Given the description of an element on the screen output the (x, y) to click on. 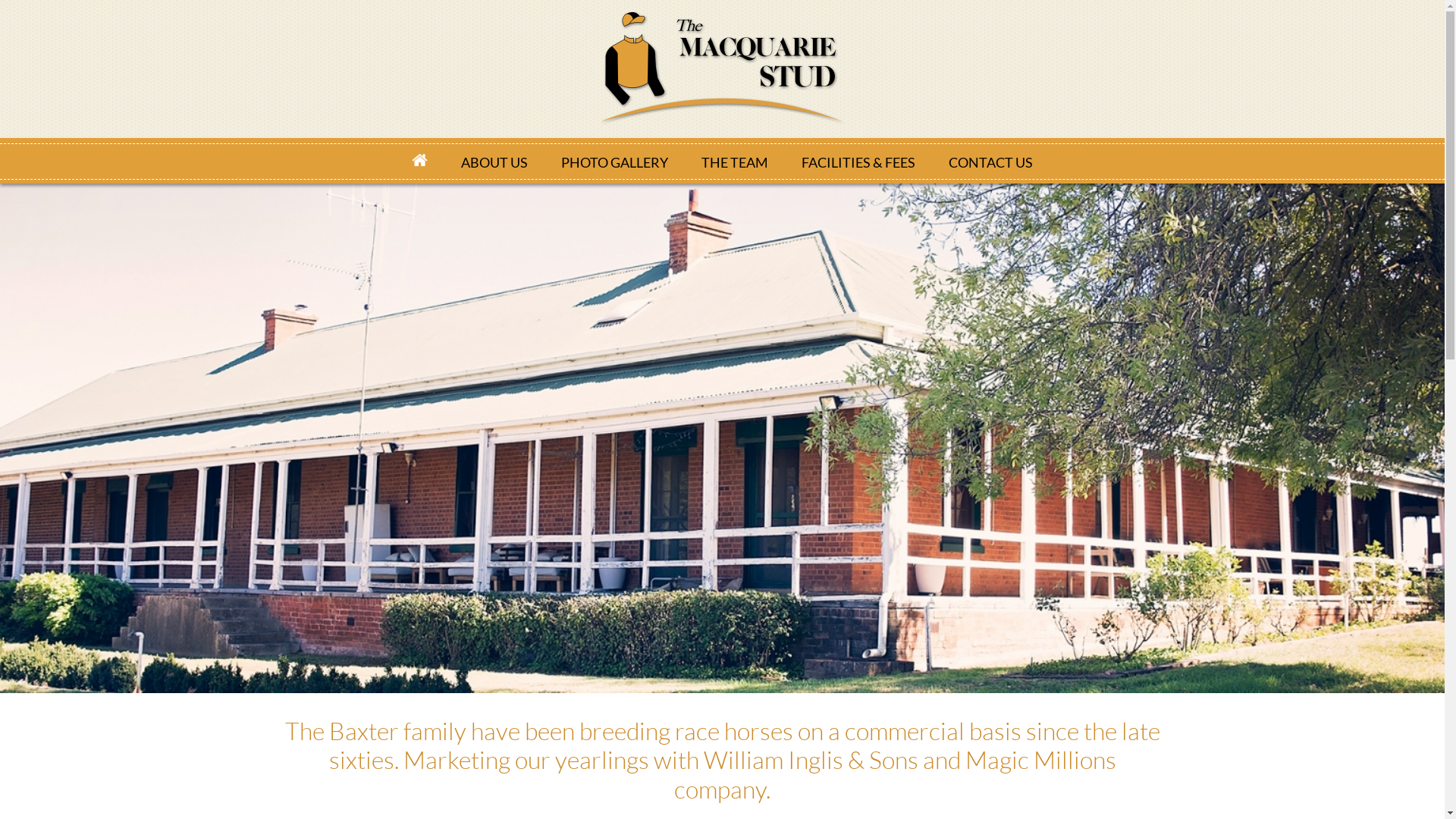
ABOUT US Element type: text (494, 160)
FACILITIES & FEES Element type: text (858, 160)
CONTACT US Element type: text (990, 160)
THE TEAM Element type: text (734, 160)
Iwra Element type: text (721, 68)
PHOTO GALLERY Element type: text (614, 160)
